Given the description of an element on the screen output the (x, y) to click on. 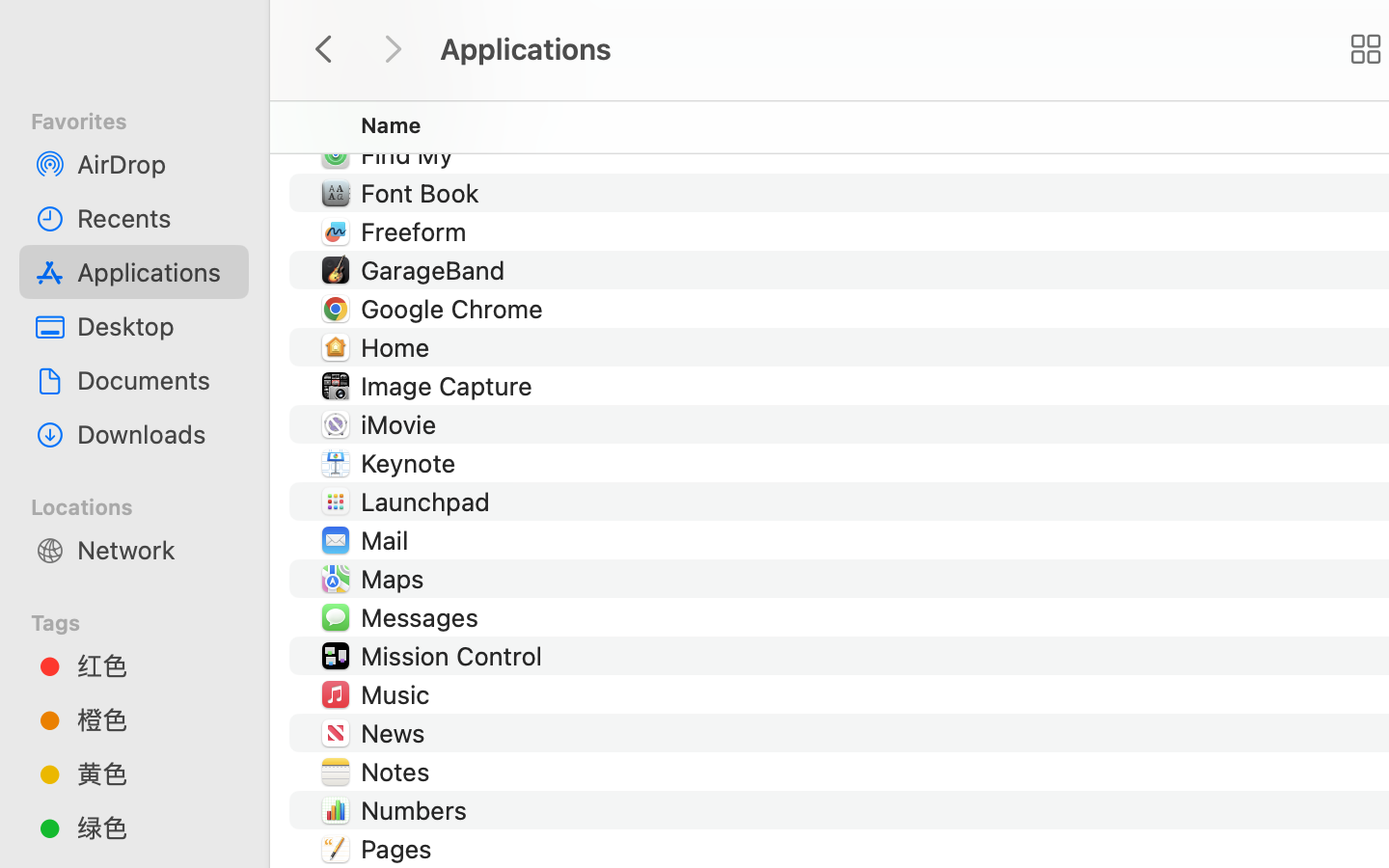
Numbers Element type: AXTextField (418, 809)
绿色 Element type: AXStaticText (155, 827)
Documents Element type: AXStaticText (155, 379)
Recents Element type: AXStaticText (155, 217)
Google Chrome Element type: AXTextField (455, 308)
